Given the description of an element on the screen output the (x, y) to click on. 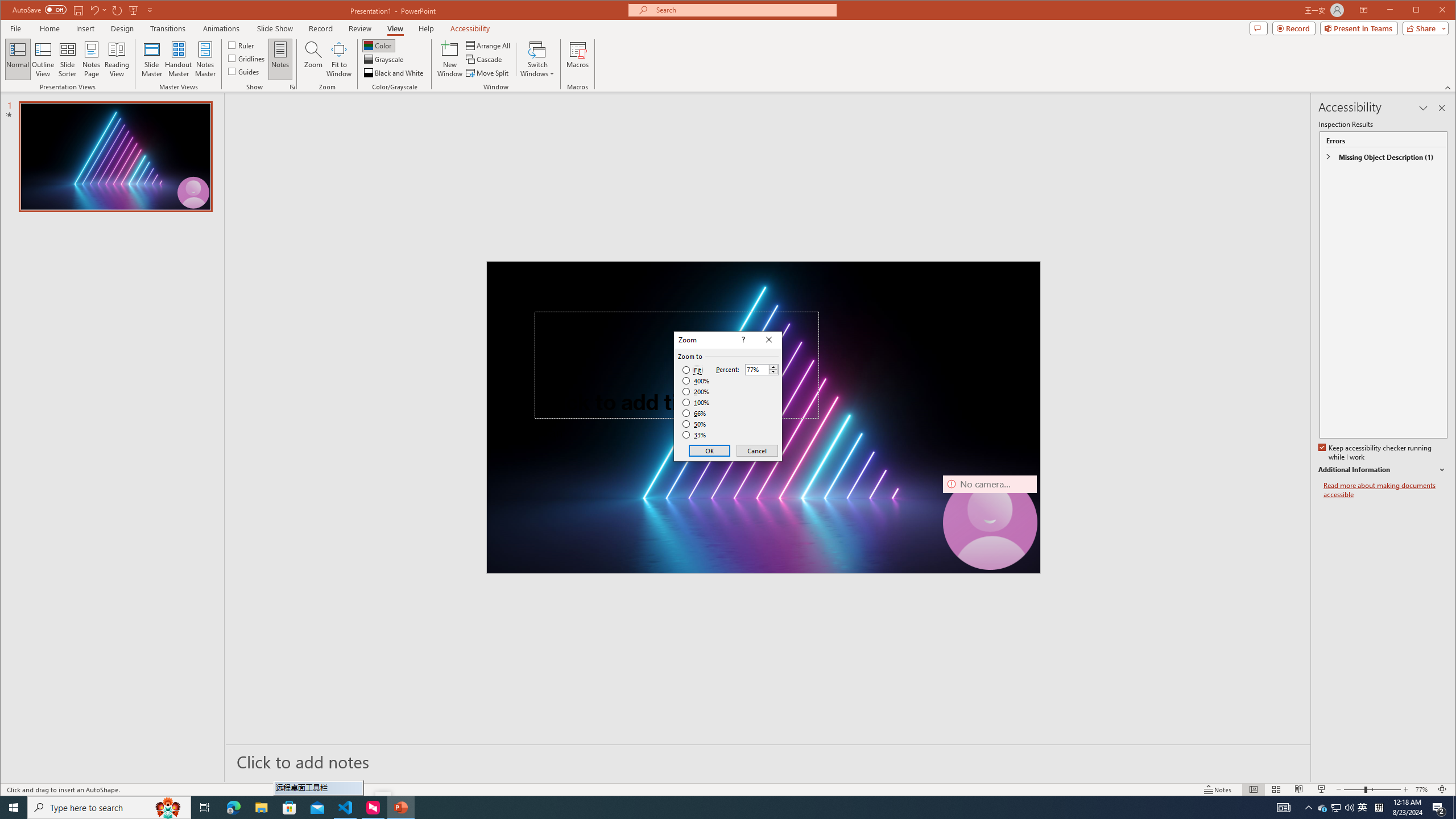
400% (696, 380)
Notes Master (204, 59)
Move Split (488, 72)
Running applications (700, 807)
Switch Windows (537, 59)
